Given the description of an element on the screen output the (x, y) to click on. 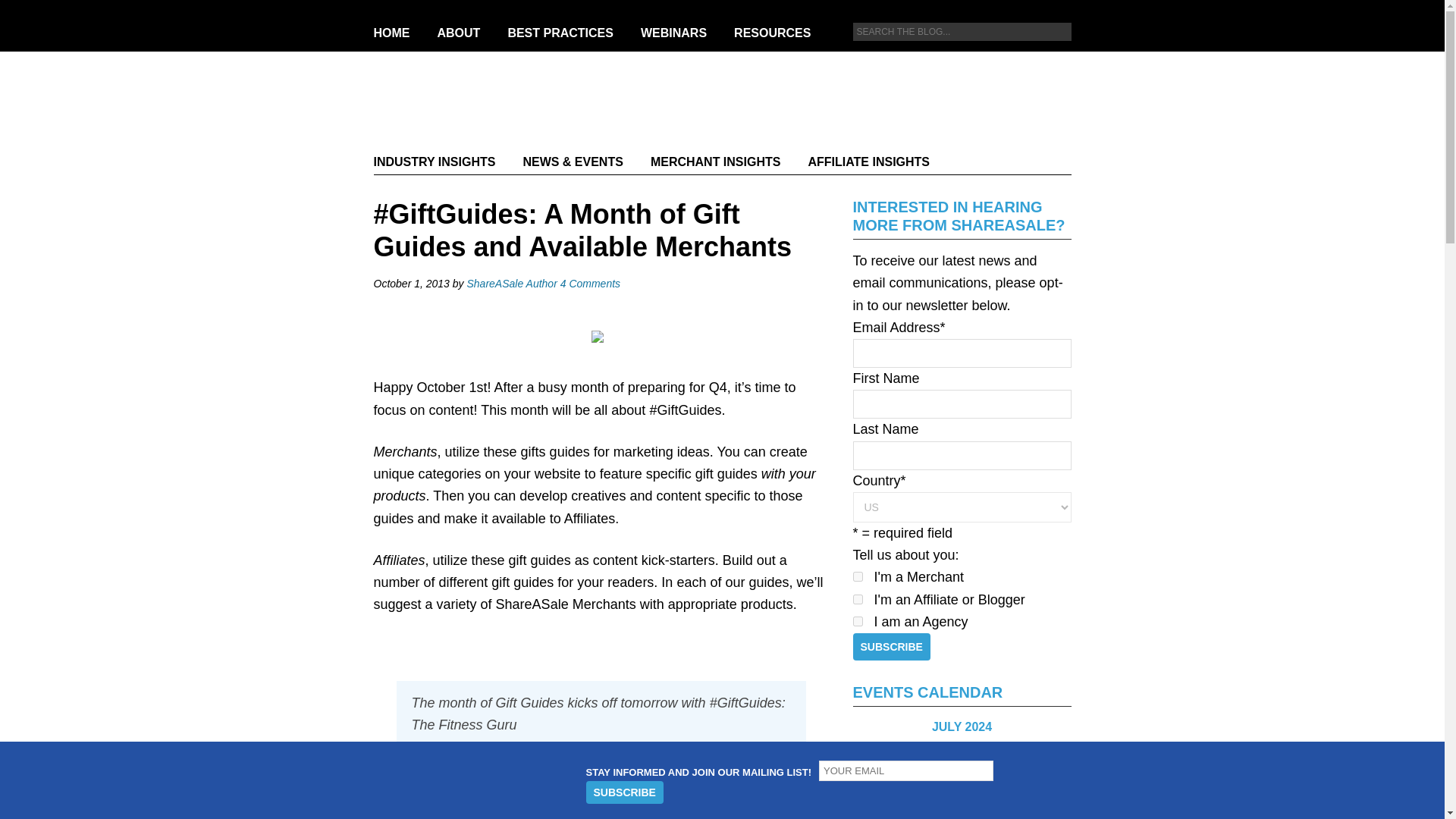
ShareASale Author (510, 283)
INDUSTRY INSIGHTS (440, 161)
Subscribe (890, 646)
HOME (397, 31)
I'm an Affiliate or Blogger (856, 599)
I am an Agency (856, 621)
LinkedIn (1014, 76)
AFFILIATE INSIGHTS (868, 161)
BEST PRACTICES (560, 31)
RESOURCES (772, 31)
Twitter (883, 76)
Subscribe (623, 792)
WEBINARS (673, 31)
